Given the description of an element on the screen output the (x, y) to click on. 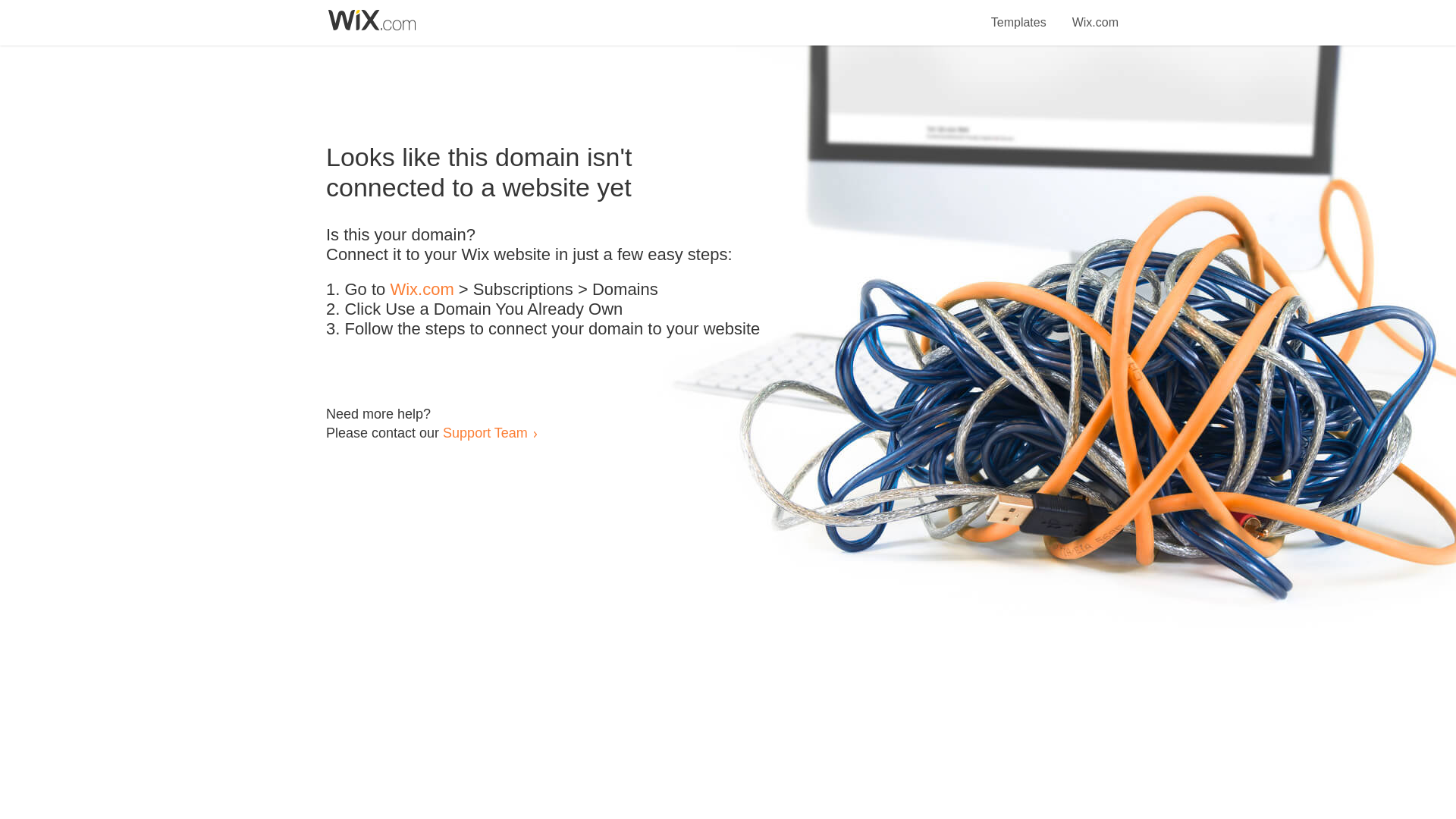
Templates (1018, 14)
Wix.com (1095, 14)
Wix.com (421, 289)
Support Team (484, 432)
